Given the description of an element on the screen output the (x, y) to click on. 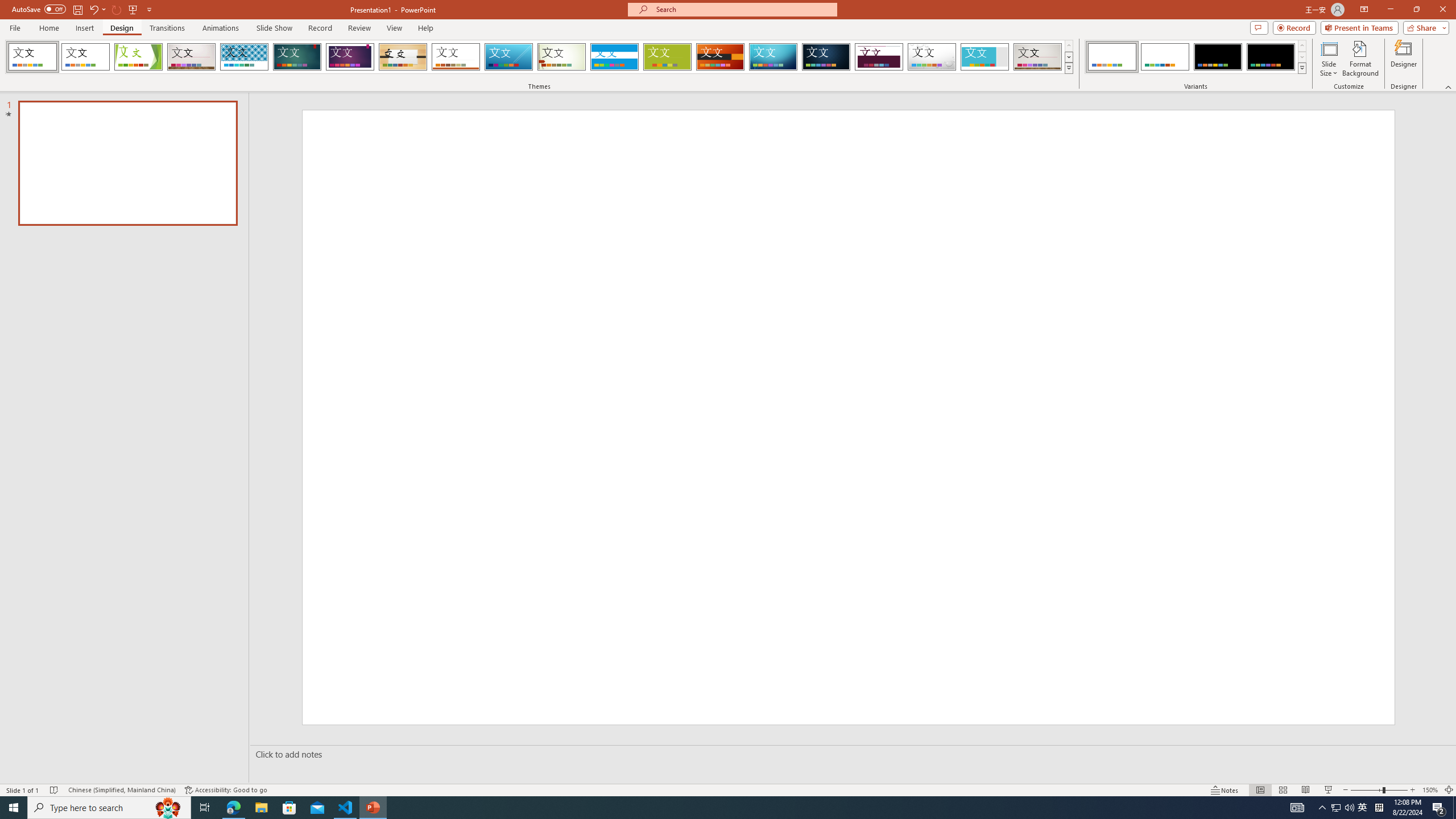
Banded Loading Preview... (614, 56)
Circuit Loading Preview... (772, 56)
Berlin Loading Preview... (720, 56)
Basis Loading Preview... (667, 56)
Organic Loading Preview... (403, 56)
